Given the description of an element on the screen output the (x, y) to click on. 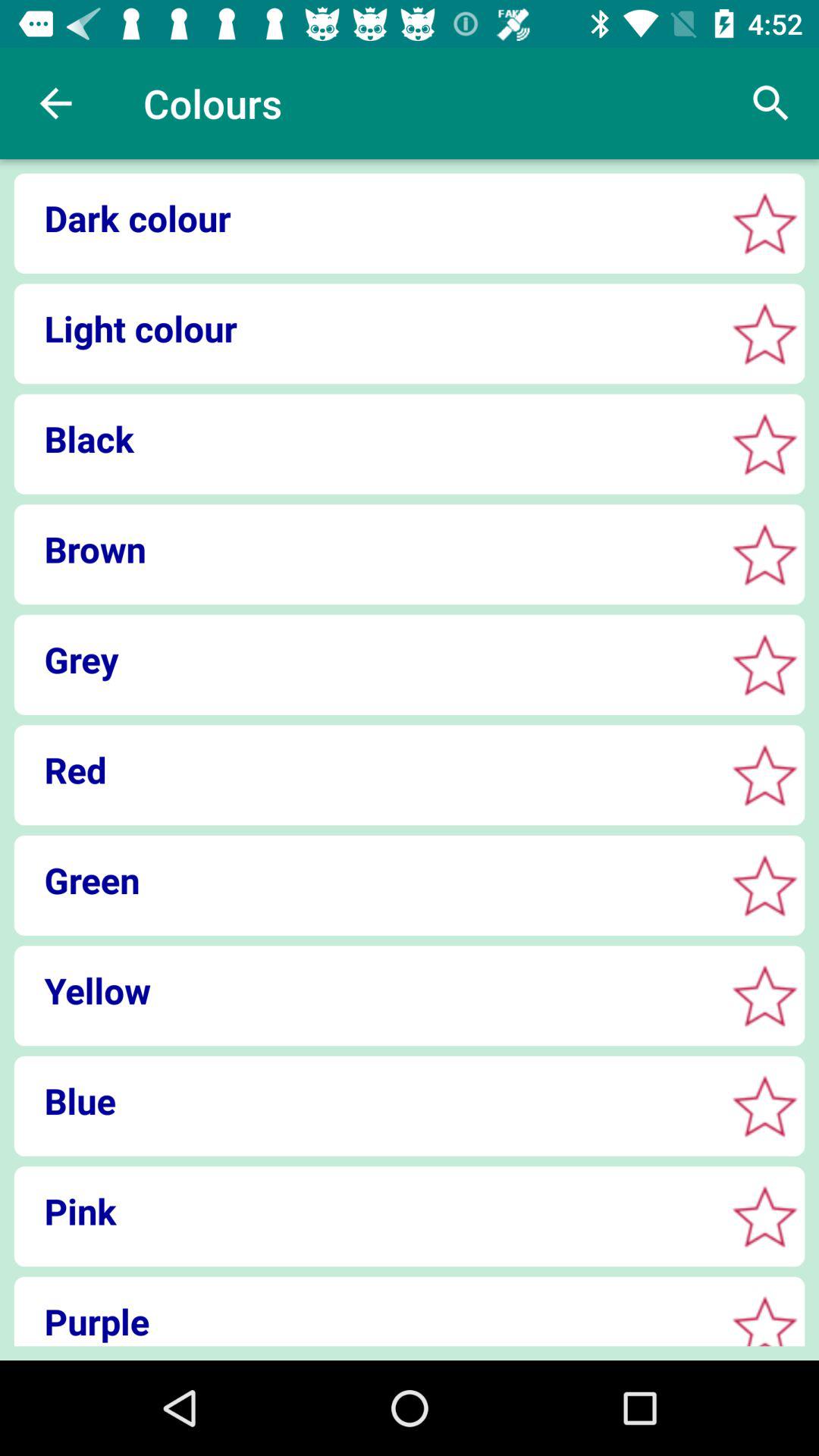
choose red icon (364, 769)
